Given the description of an element on the screen output the (x, y) to click on. 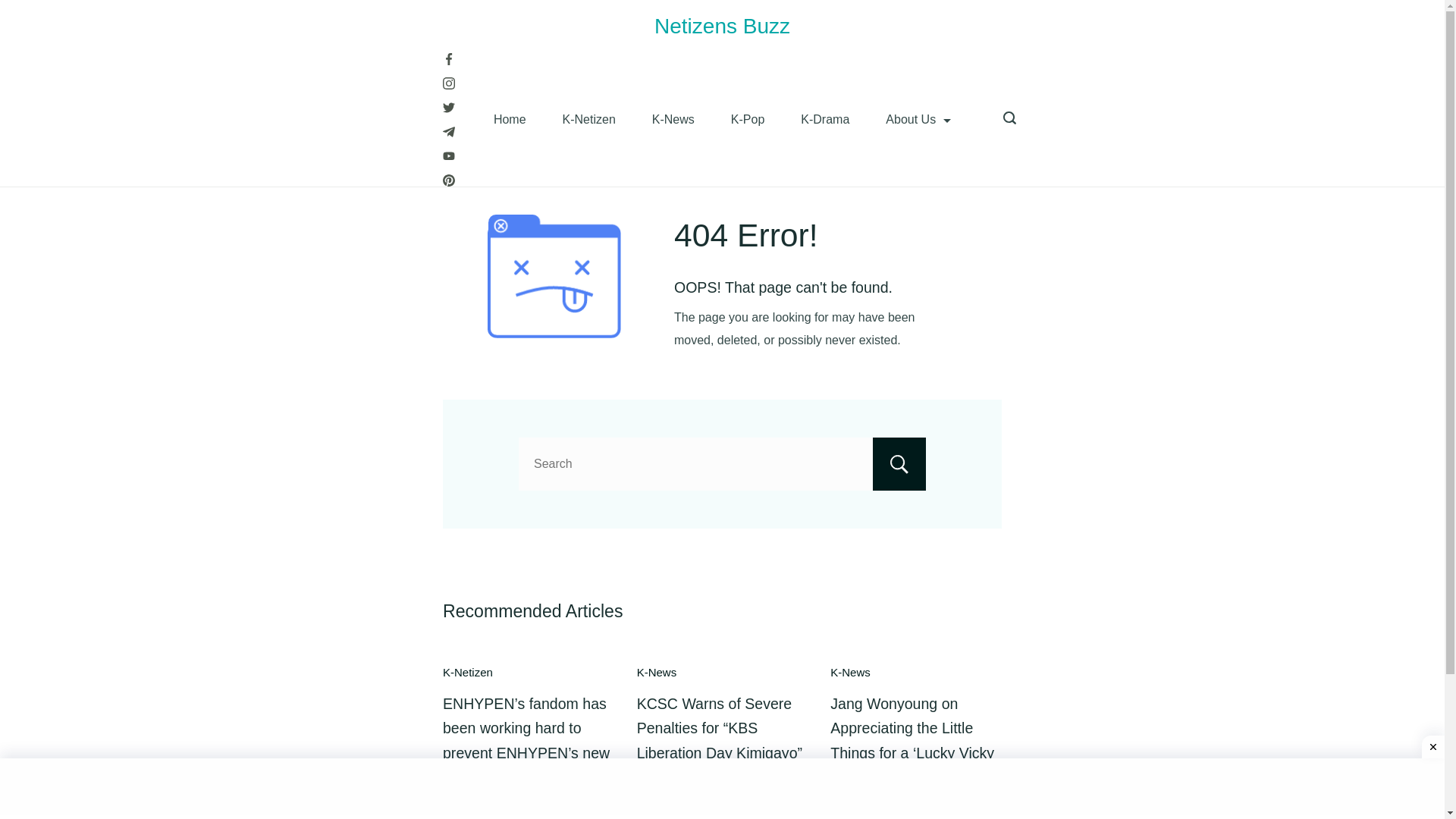
K-Drama (825, 119)
K-News (673, 119)
Netizens Buzz (721, 25)
Home (510, 119)
K-Pop (748, 119)
Search (899, 463)
Search Input (722, 463)
K-Netizen (588, 119)
Search (899, 463)
About Us (918, 119)
